Given the description of an element on the screen output the (x, y) to click on. 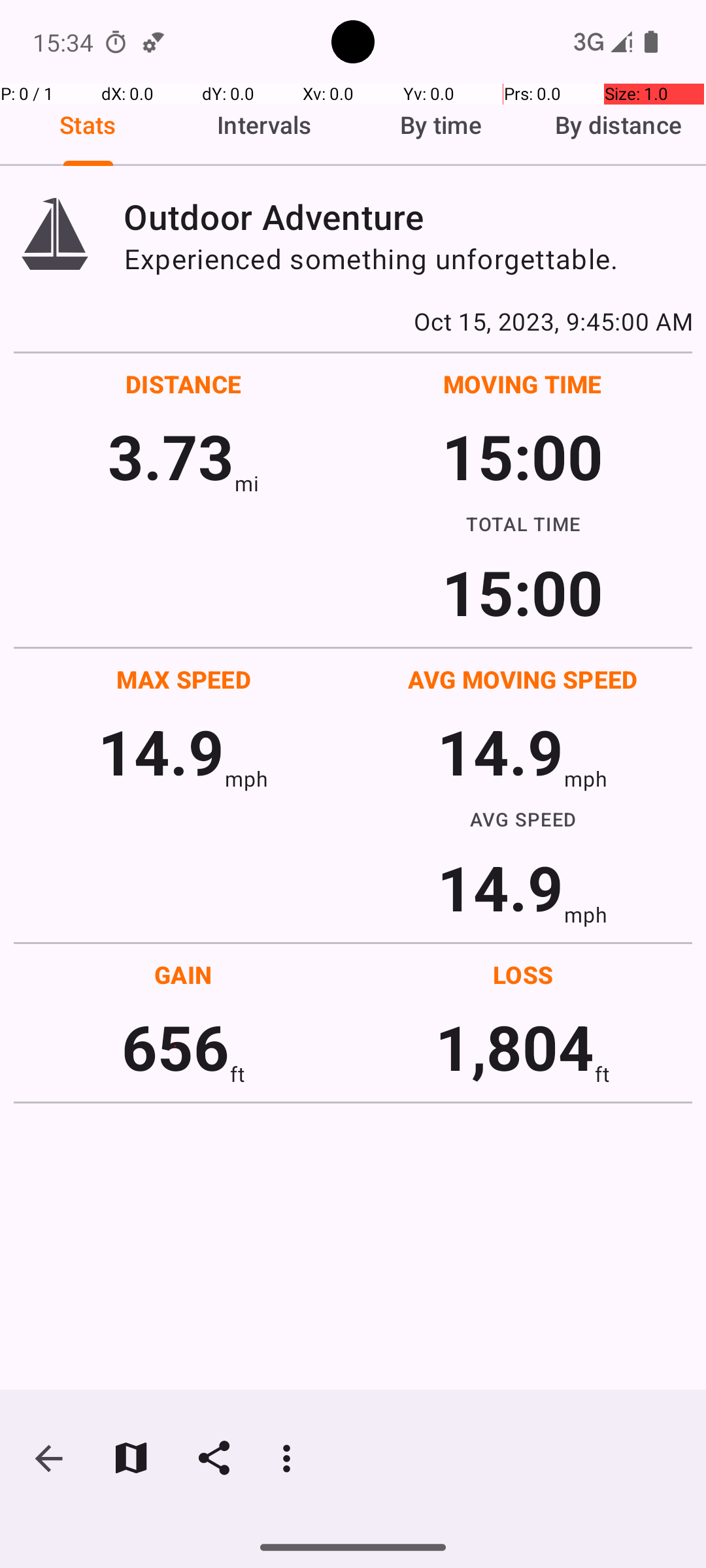
Experienced something unforgettable. Element type: android.widget.TextView (407, 258)
Oct 15, 2023, 9:45:00 AM Element type: android.widget.TextView (352, 320)
3.73 Element type: android.widget.TextView (170, 455)
14.9 Element type: android.widget.TextView (161, 750)
656 Element type: android.widget.TextView (175, 1045)
1,804 Element type: android.widget.TextView (514, 1045)
